Given the description of an element on the screen output the (x, y) to click on. 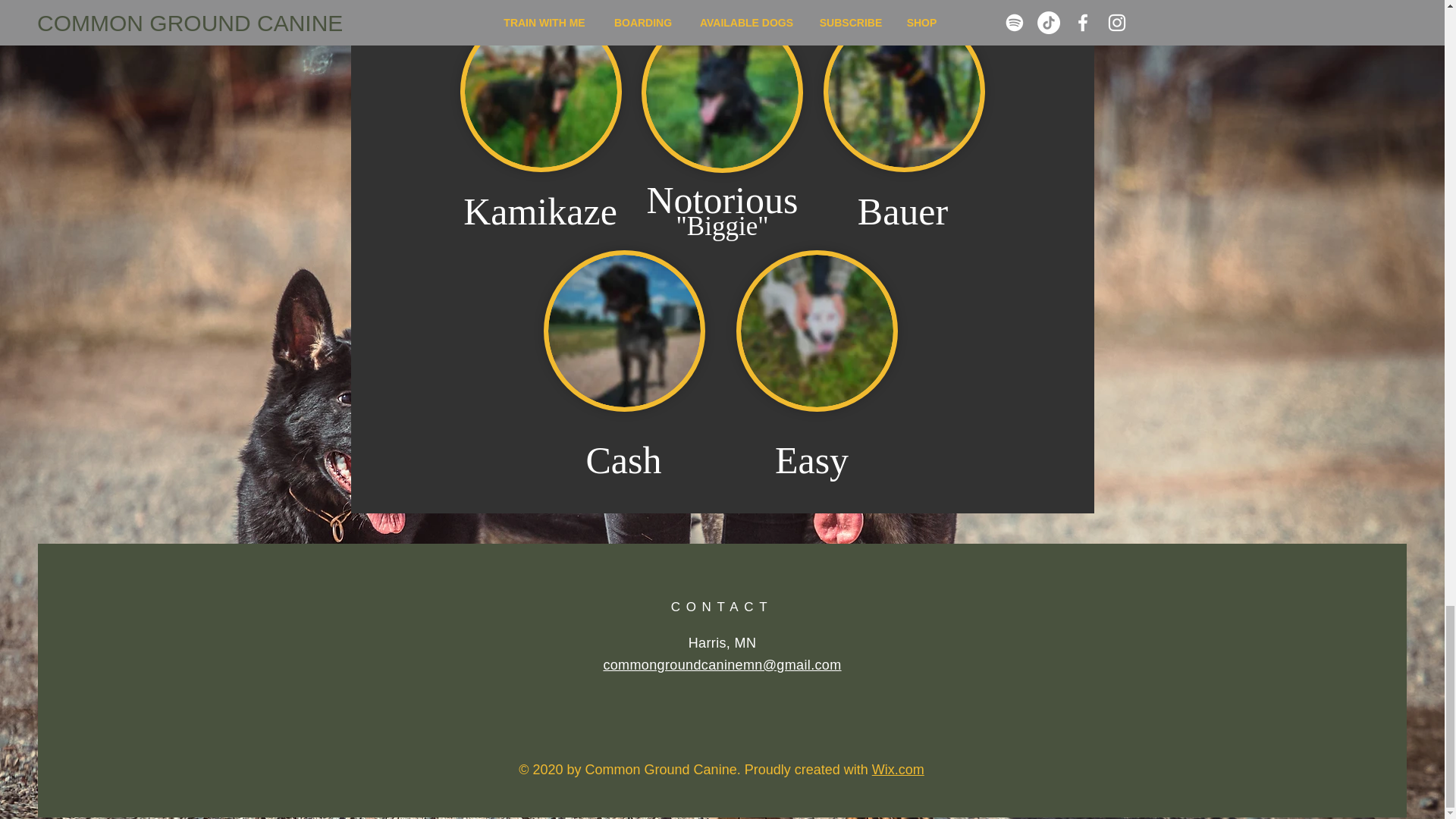
Wix.com (898, 769)
